Given the description of an element on the screen output the (x, y) to click on. 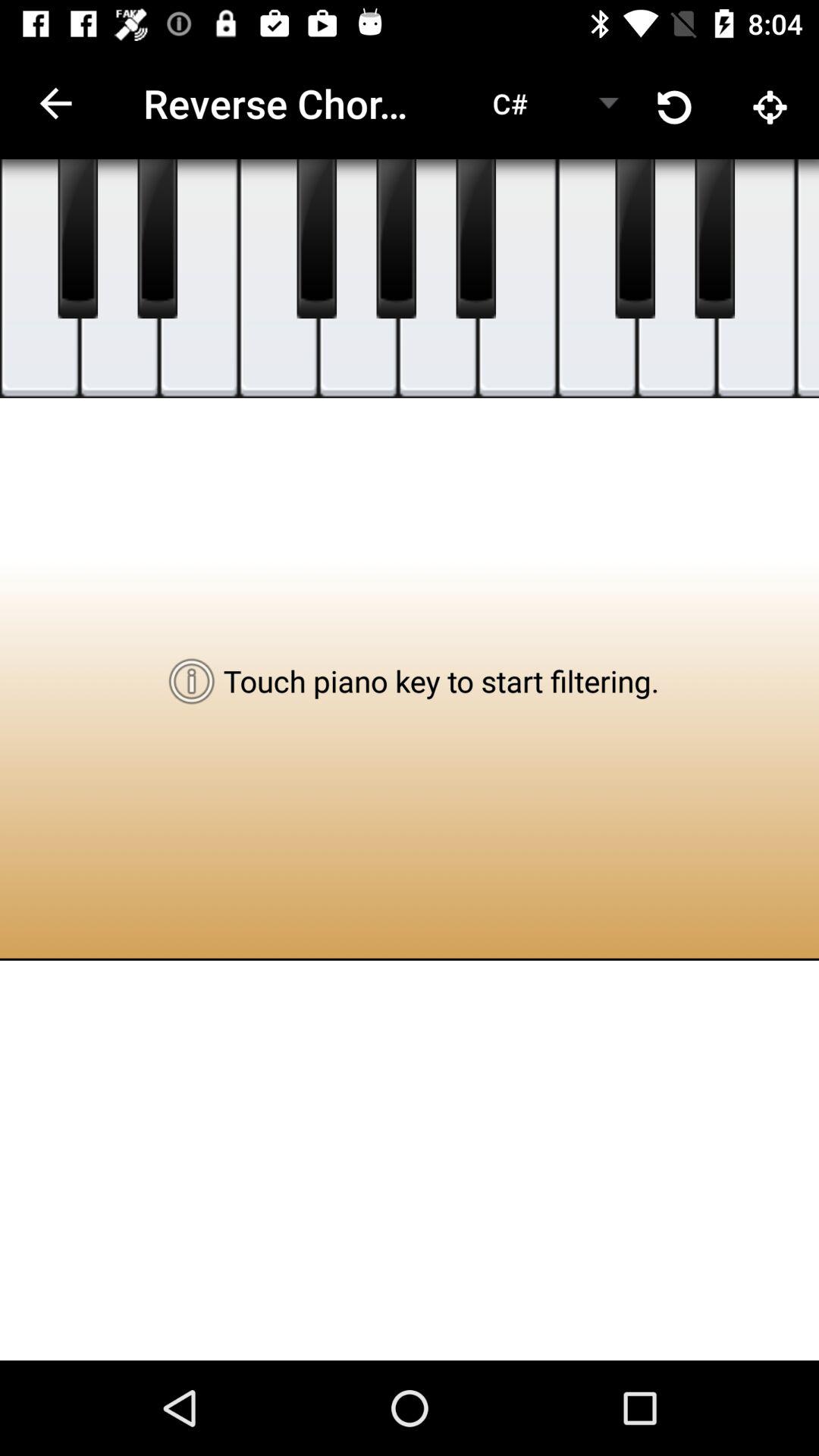
music keyboard button (756, 278)
